Given the description of an element on the screen output the (x, y) to click on. 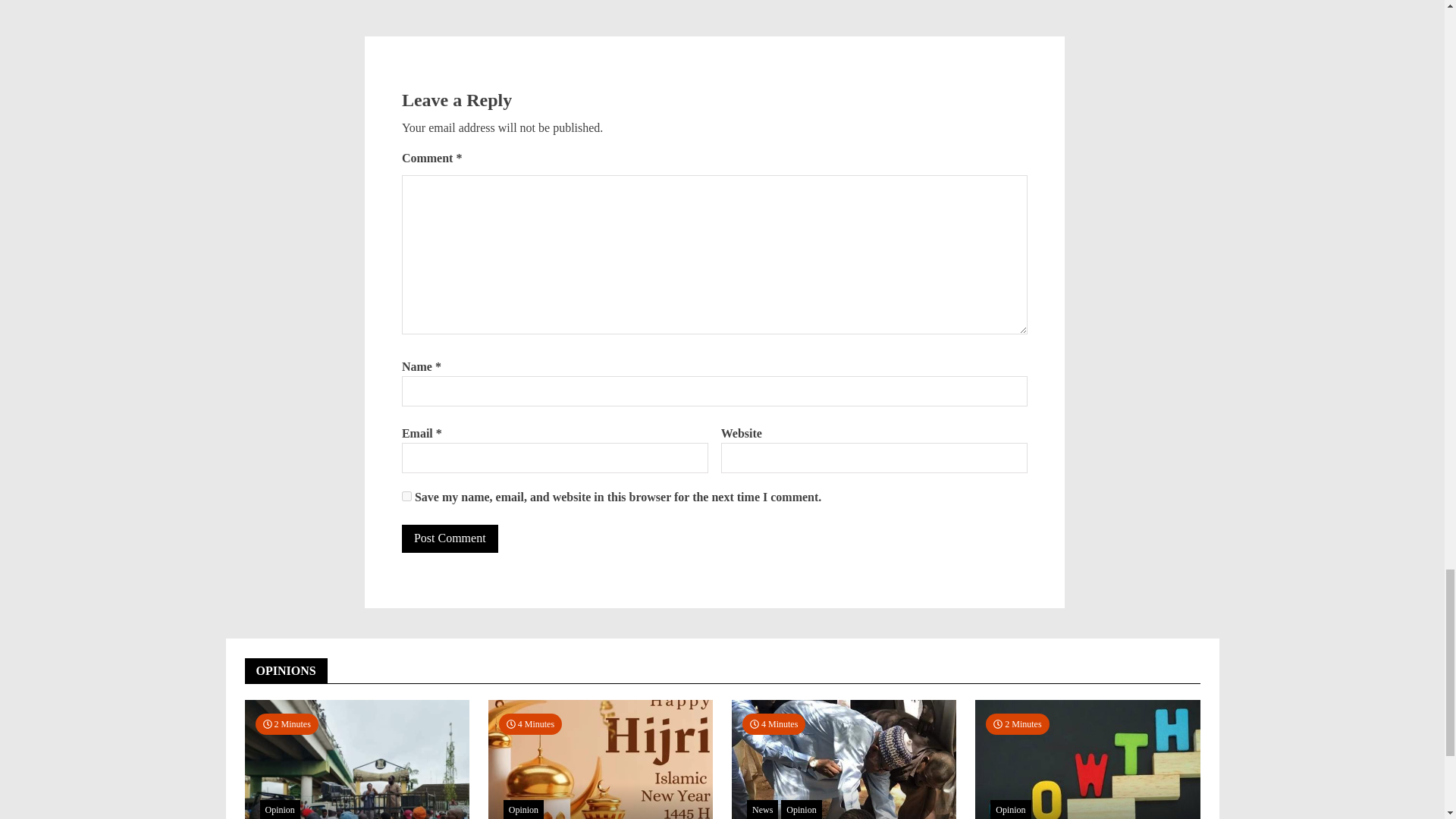
Estimated Reading Time of Article (530, 723)
Estimated Reading Time of Article (285, 723)
Post Comment (449, 538)
Estimated Reading Time of Article (1016, 723)
Estimated Reading Time of Article (773, 723)
yes (406, 496)
